Given the description of an element on the screen output the (x, y) to click on. 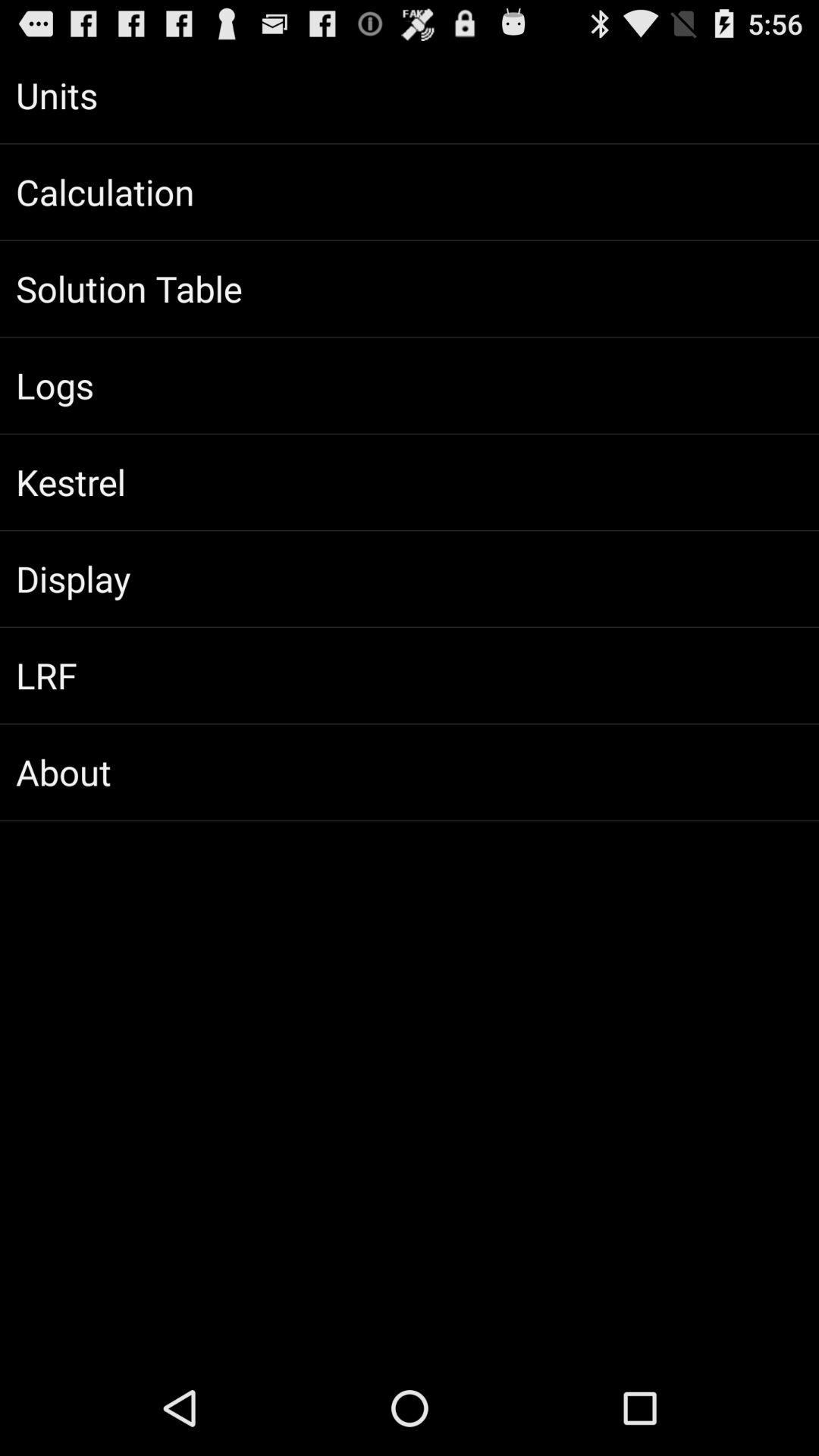
open the about (409, 772)
